Given the description of an element on the screen output the (x, y) to click on. 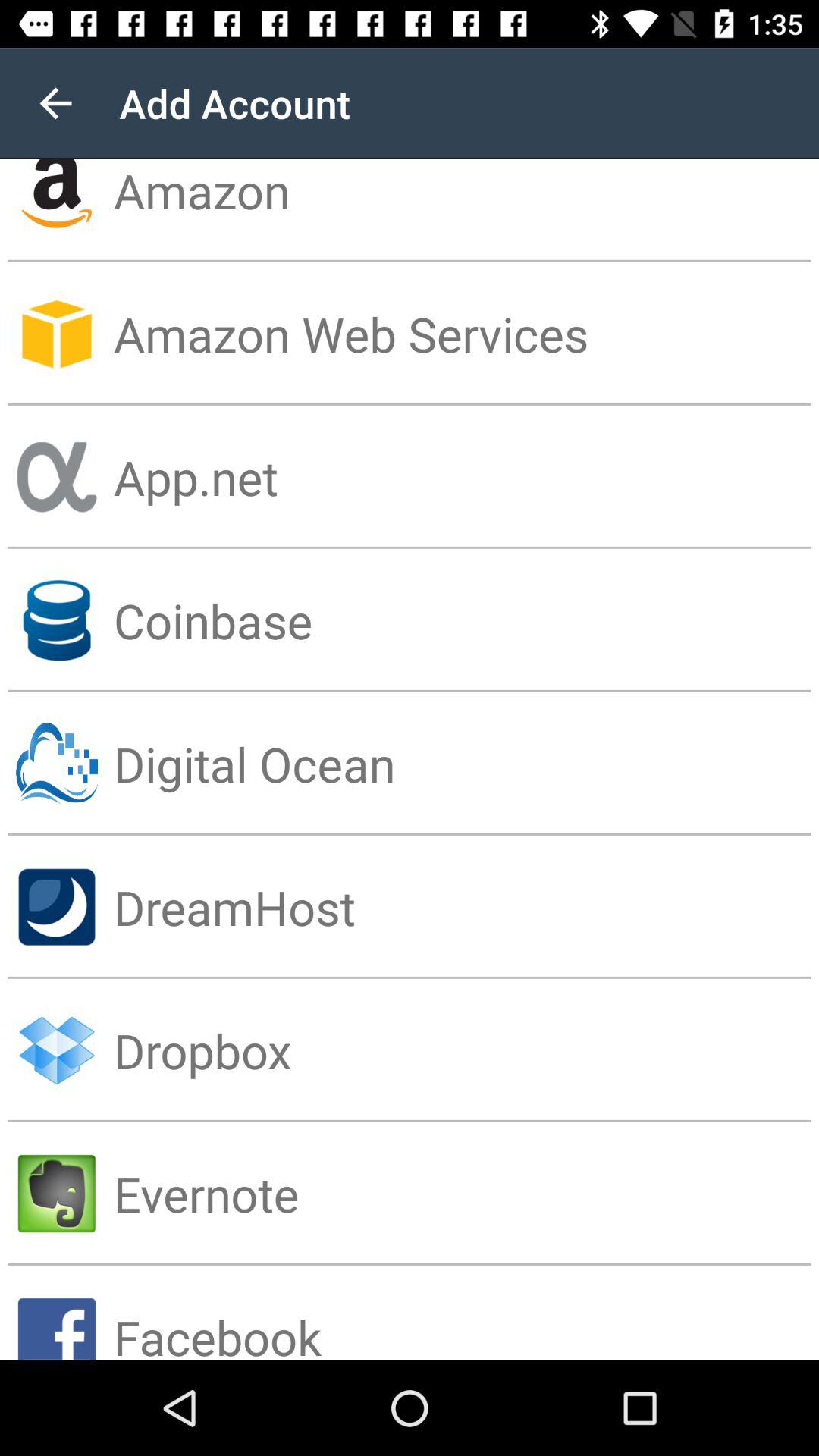
turn on the facebook item (466, 1312)
